Given the description of an element on the screen output the (x, y) to click on. 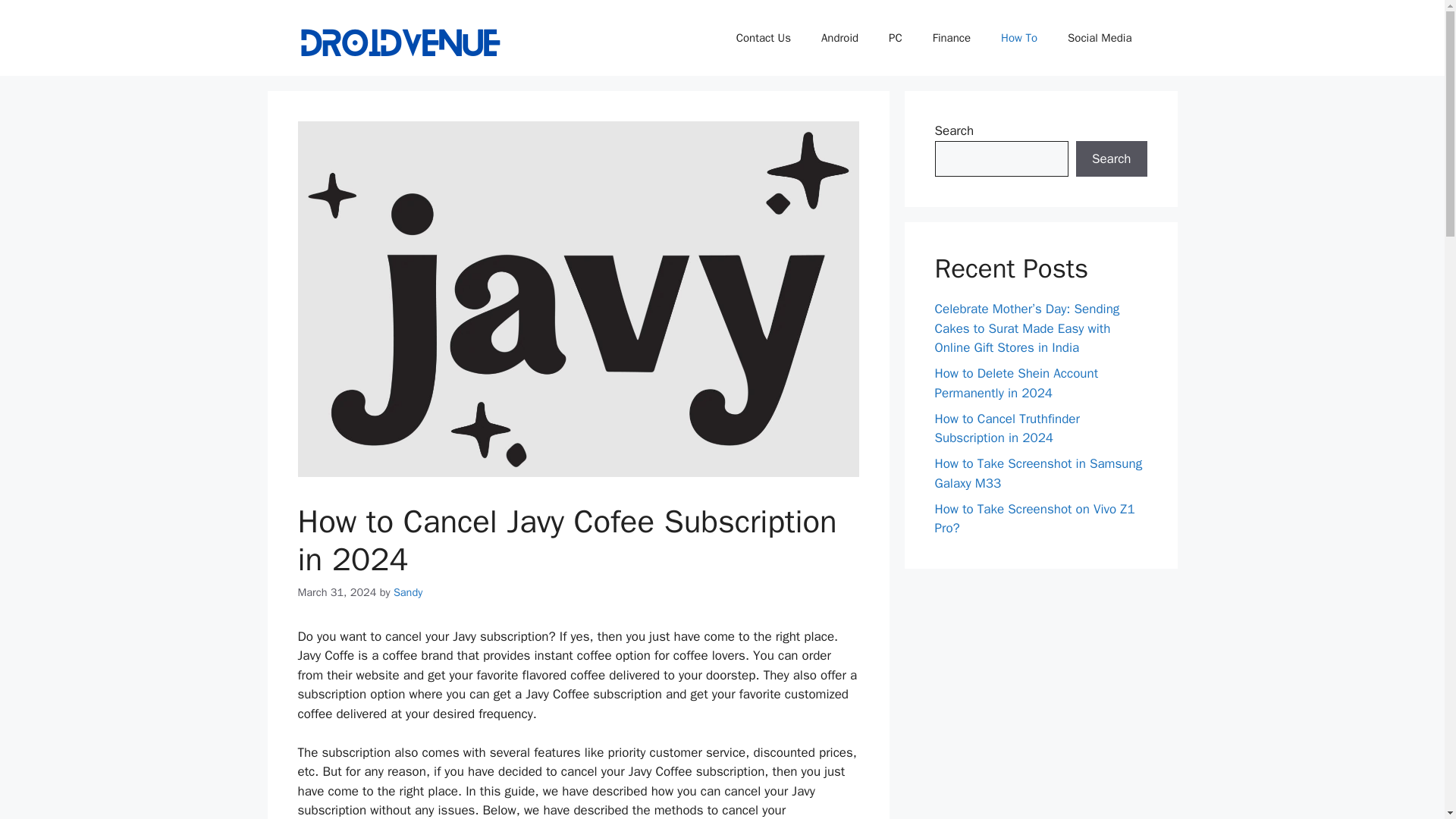
How to Cancel Truthfinder Subscription in 2024 (1006, 428)
Sandy (407, 591)
Contact Us (763, 37)
View all posts by Sandy (407, 591)
Social Media (1099, 37)
Android (839, 37)
Search (1111, 158)
How To (1018, 37)
How to Take Screenshot in Samsung Galaxy M33 (1037, 473)
Finance (951, 37)
